Given the description of an element on the screen output the (x, y) to click on. 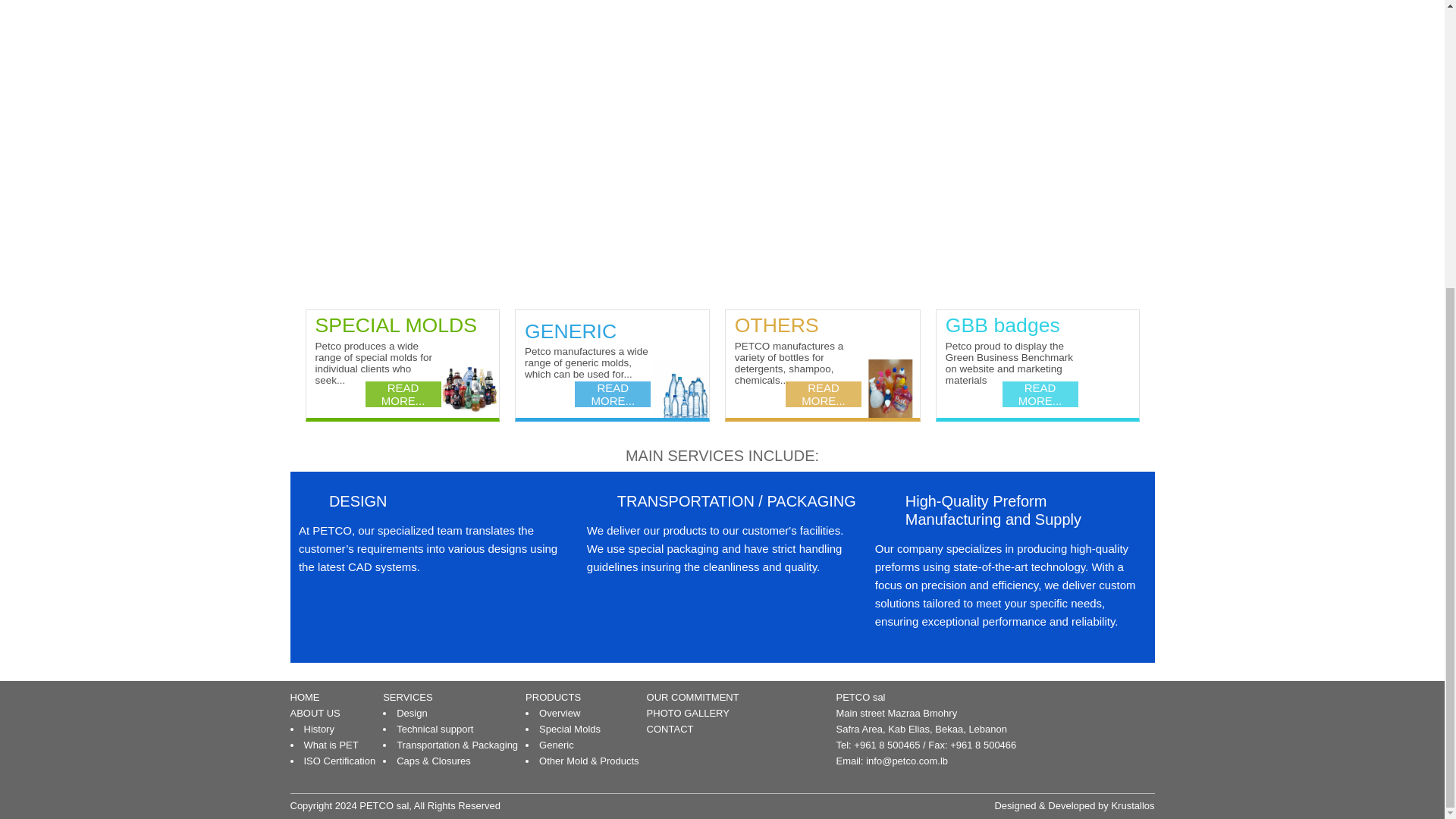
CONTACT (670, 728)
READ MORE... (1040, 394)
What is PET (330, 745)
READ MORE... (823, 394)
Special Molds (568, 728)
READ MORE... (612, 394)
HOME (303, 696)
Technical support (434, 728)
PHOTO GALLERY (687, 713)
Krustallos (1132, 805)
Overview (558, 713)
Generic (555, 745)
History (317, 728)
ISO Certification (338, 760)
OUR COMMITMENT (692, 696)
